Given the description of an element on the screen output the (x, y) to click on. 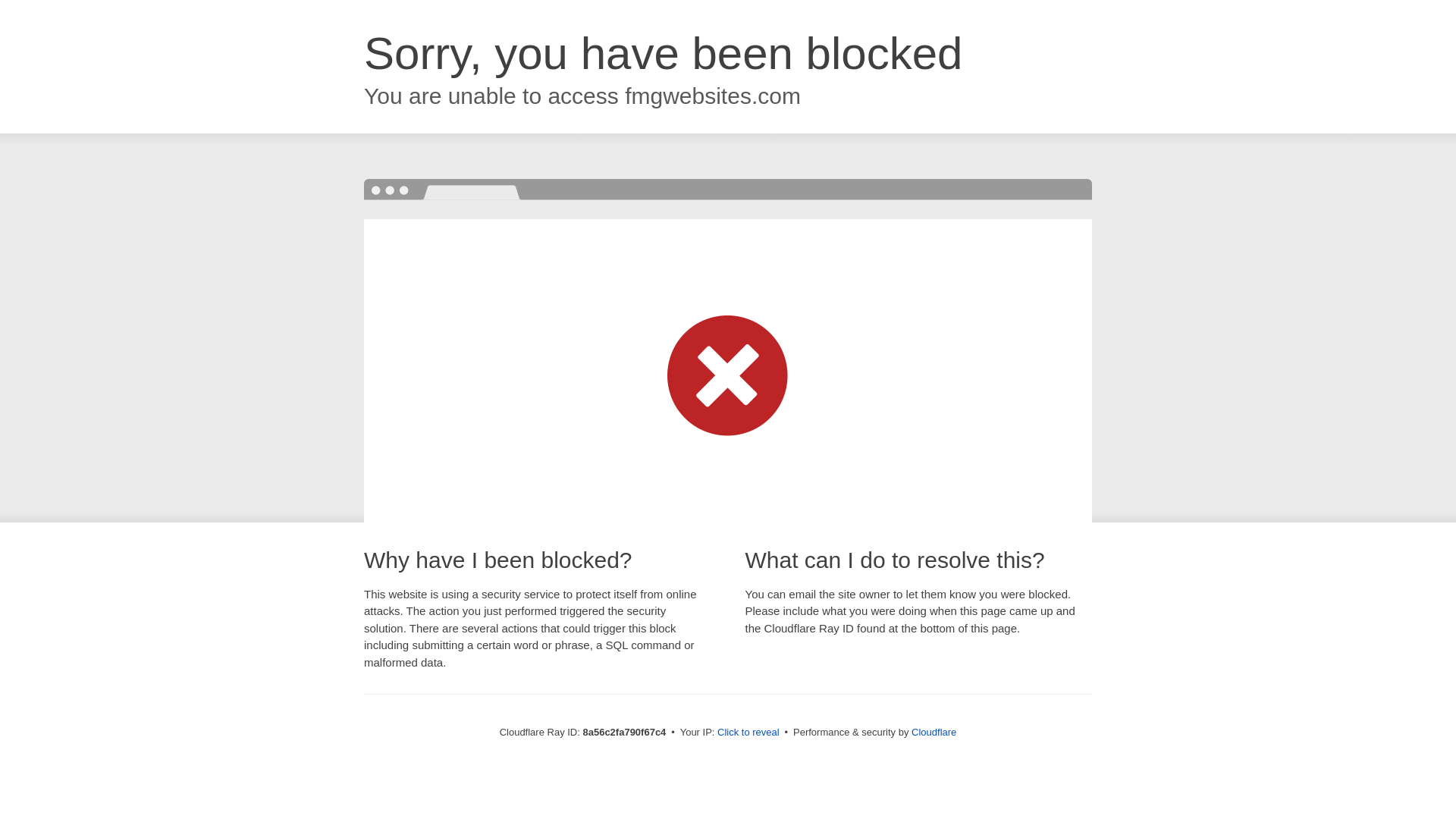
Cloudflare (933, 731)
Click to reveal (747, 732)
